Given the description of an element on the screen output the (x, y) to click on. 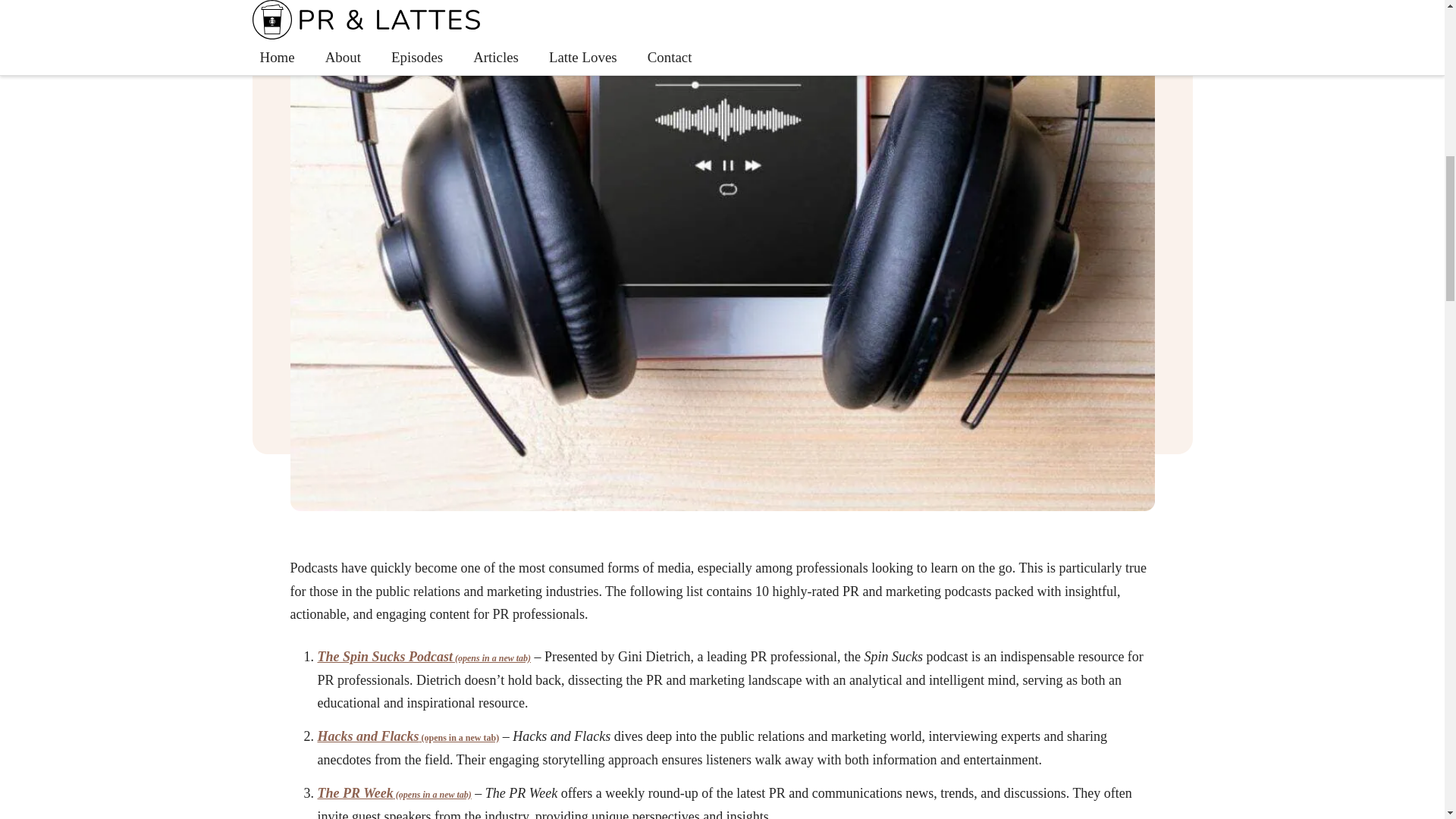
Hacks and Flacks (408, 735)
The Spin Sucks Podcast (424, 656)
The PR Week (393, 792)
